Given the description of an element on the screen output the (x, y) to click on. 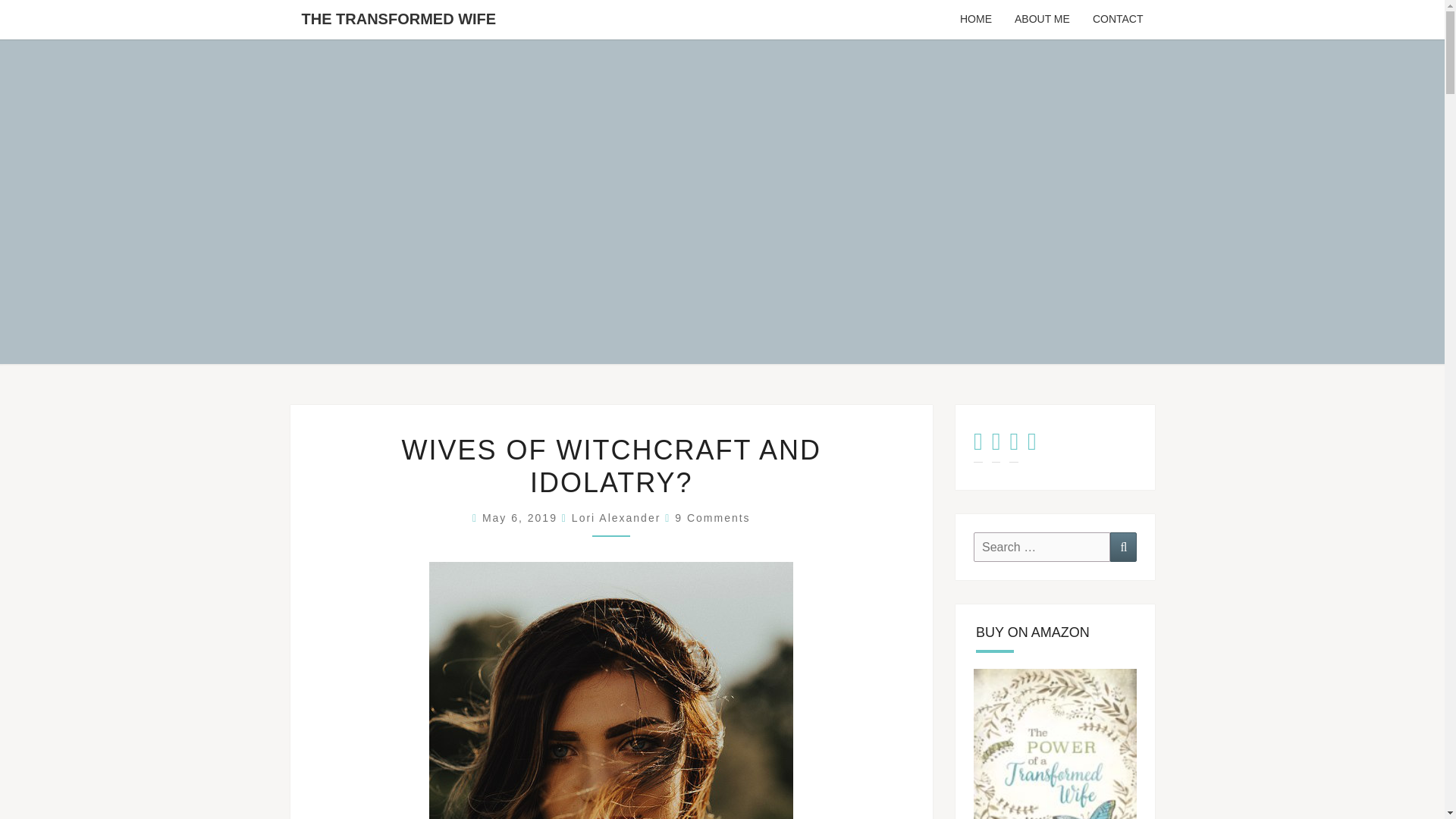
6:00 am (521, 517)
ABOUT ME (1042, 19)
Lori Alexander (616, 517)
Search for: (1041, 546)
May 6, 2019 (521, 517)
View all posts by Lori Alexander (616, 517)
9 Comments (712, 517)
Buy on Amazon (1055, 744)
THE TRANSFORMED WIFE (397, 18)
Search (1123, 546)
